Given the description of an element on the screen output the (x, y) to click on. 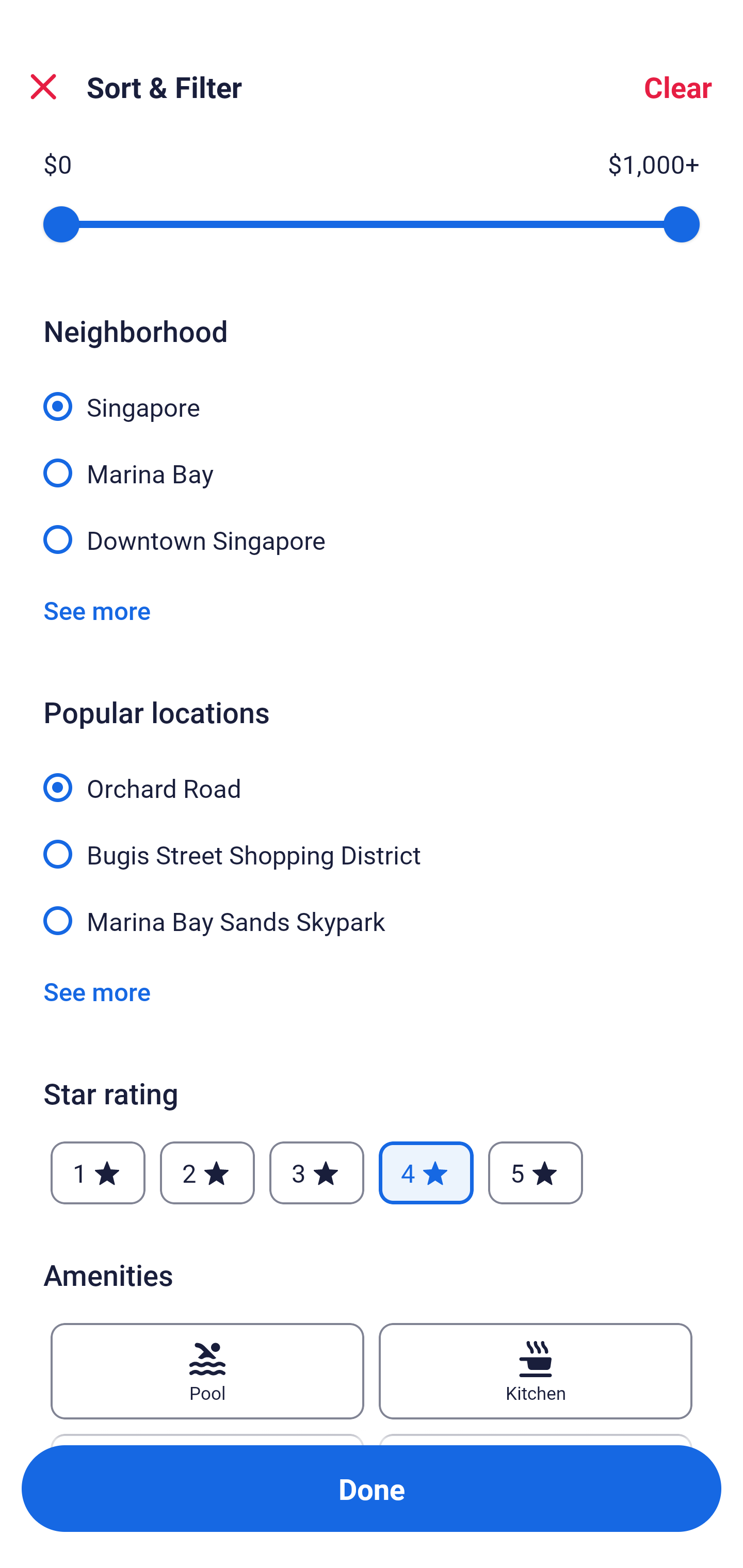
Close Sort and Filter (43, 86)
Clear (677, 86)
Marina Bay (371, 461)
Downtown Singapore (371, 538)
See more See more neighborhoods Link (96, 610)
Bugis Street Shopping District (371, 842)
Marina Bay Sands Skypark (371, 919)
See more See more popular locations Link (96, 991)
1 (97, 1172)
2 (206, 1172)
3 (316, 1172)
4 (426, 1172)
5 (535, 1172)
Pool (207, 1371)
Kitchen (535, 1371)
Apply and close Sort and Filter Done (371, 1488)
